Given the description of an element on the screen output the (x, y) to click on. 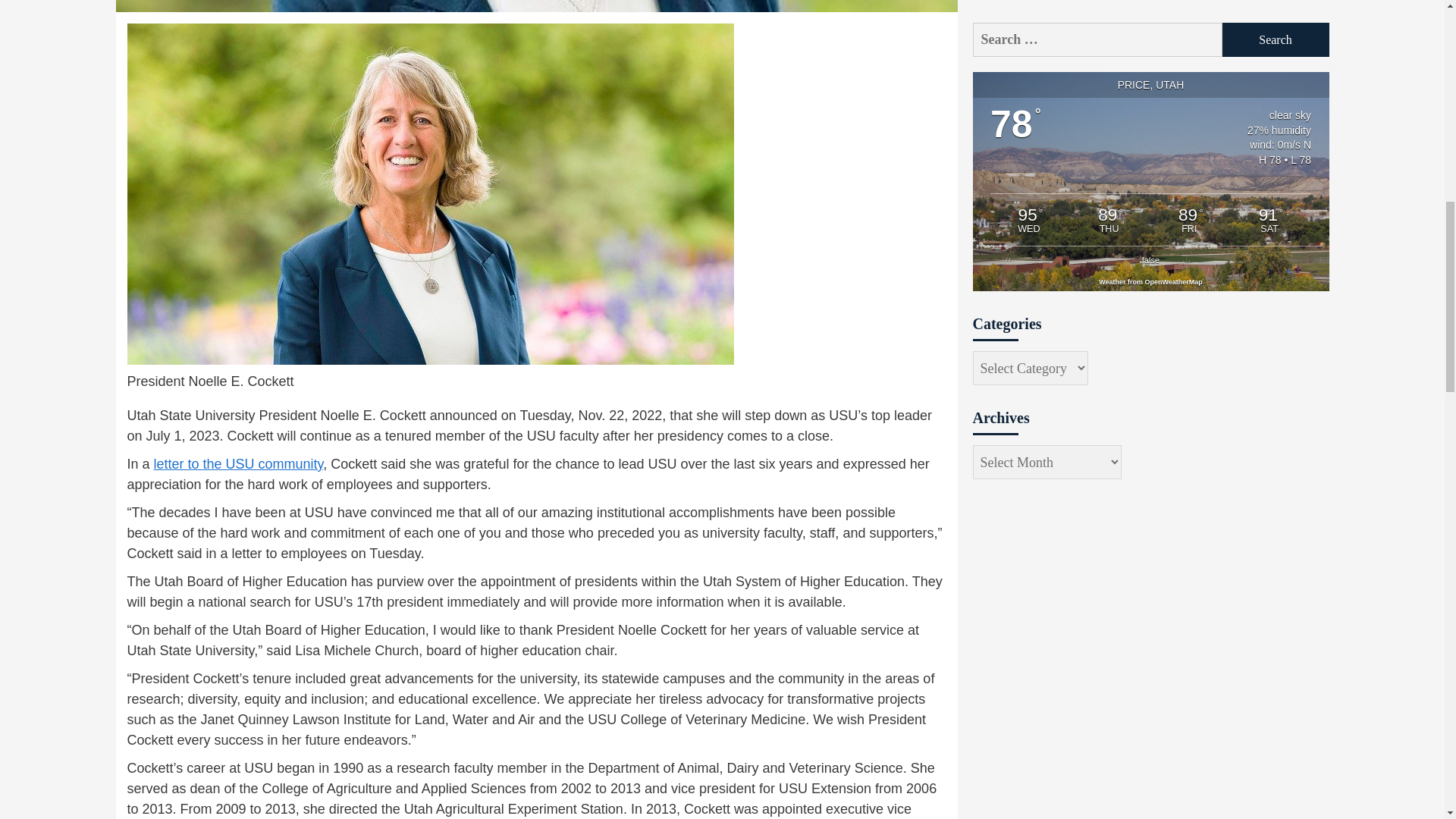
letter to the USU community (238, 463)
